Given the description of an element on the screen output the (x, y) to click on. 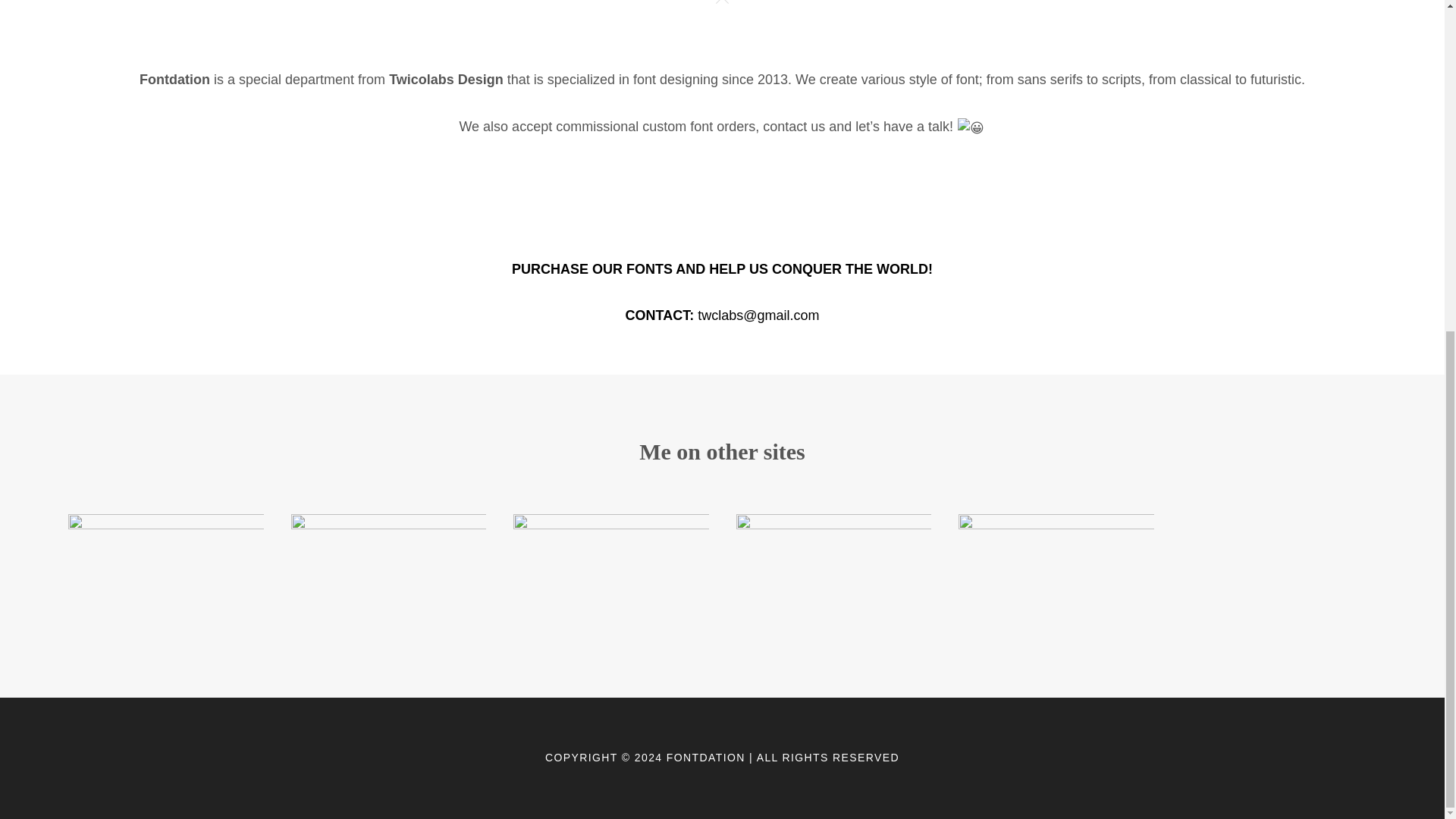
FONTDATION (705, 757)
